Given the description of an element on the screen output the (x, y) to click on. 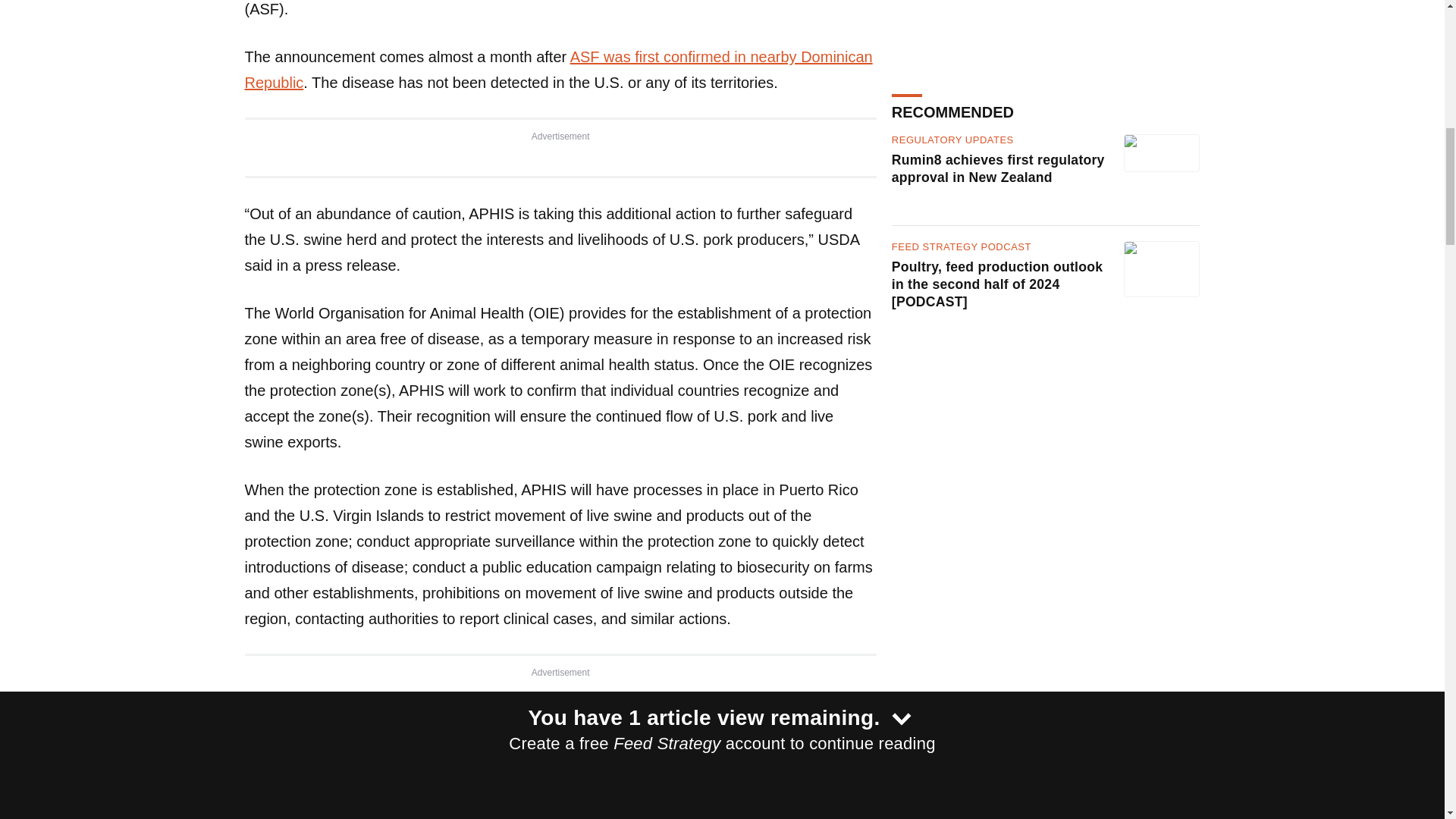
Feed Strategy Podcast (960, 4)
